Given the description of an element on the screen output the (x, y) to click on. 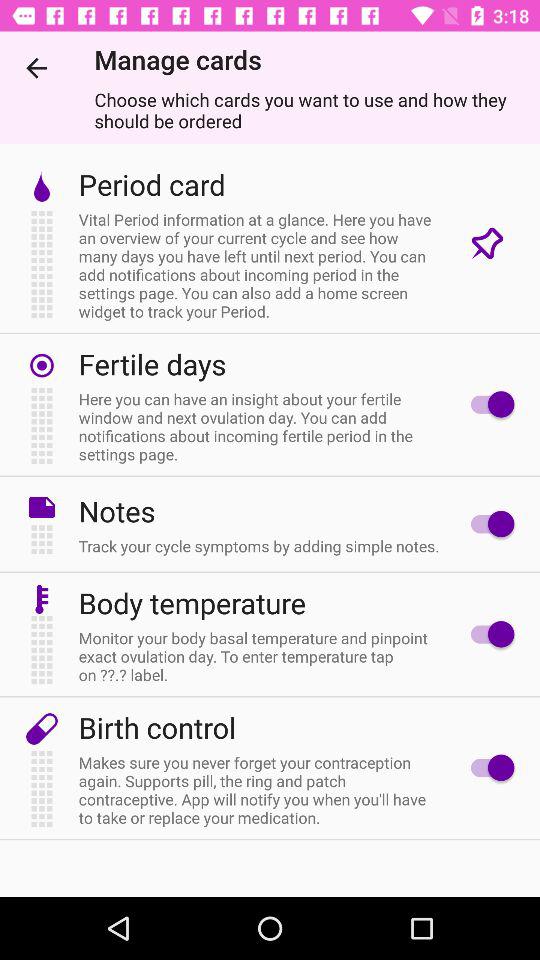
toggle fertile days option (487, 404)
